Given the description of an element on the screen output the (x, y) to click on. 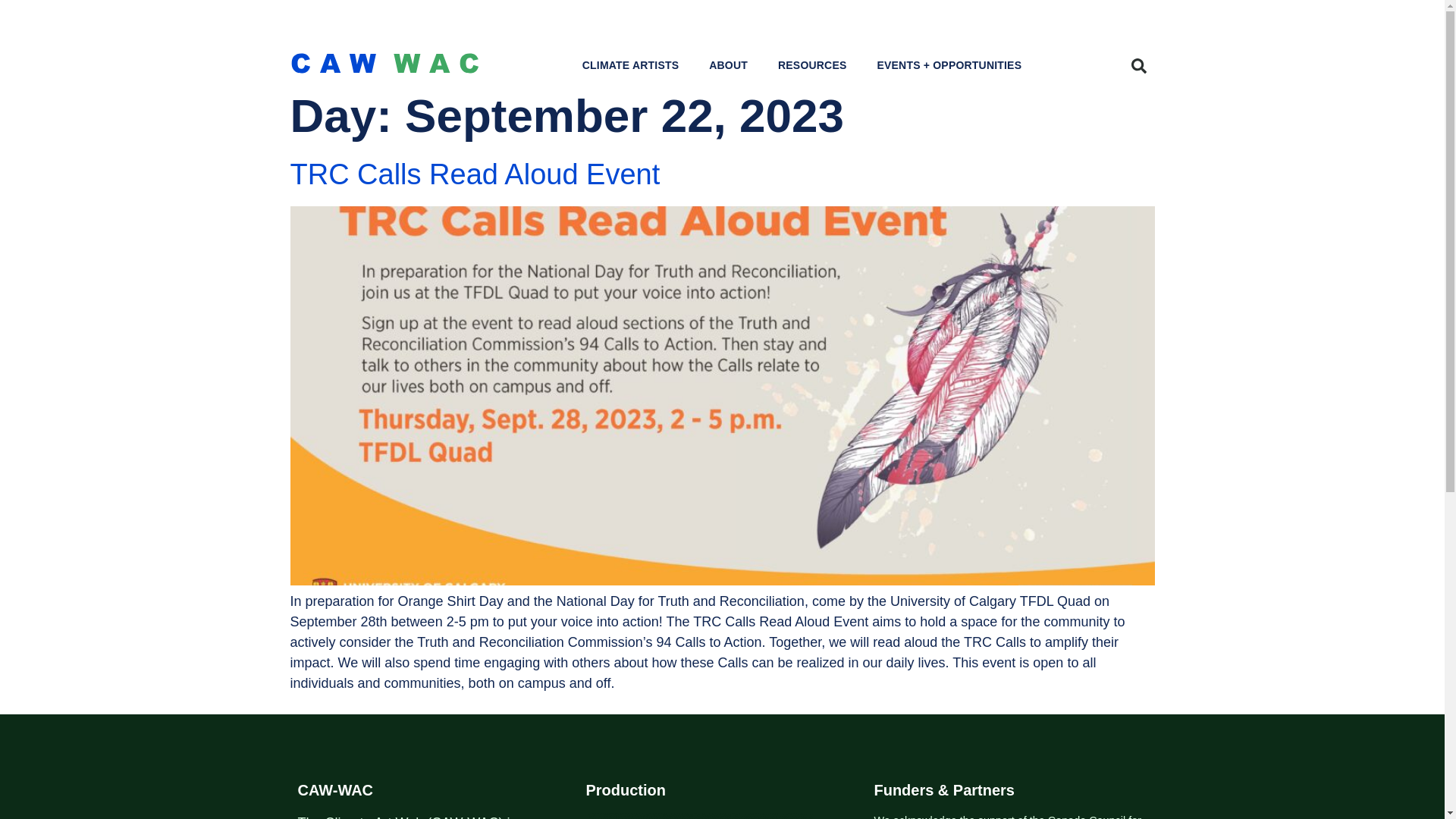
ABOUT (728, 65)
TRC Calls Read Aloud Event (474, 174)
CLIMATE ARTISTS (630, 65)
RESOURCES (811, 65)
